Given the description of an element on the screen output the (x, y) to click on. 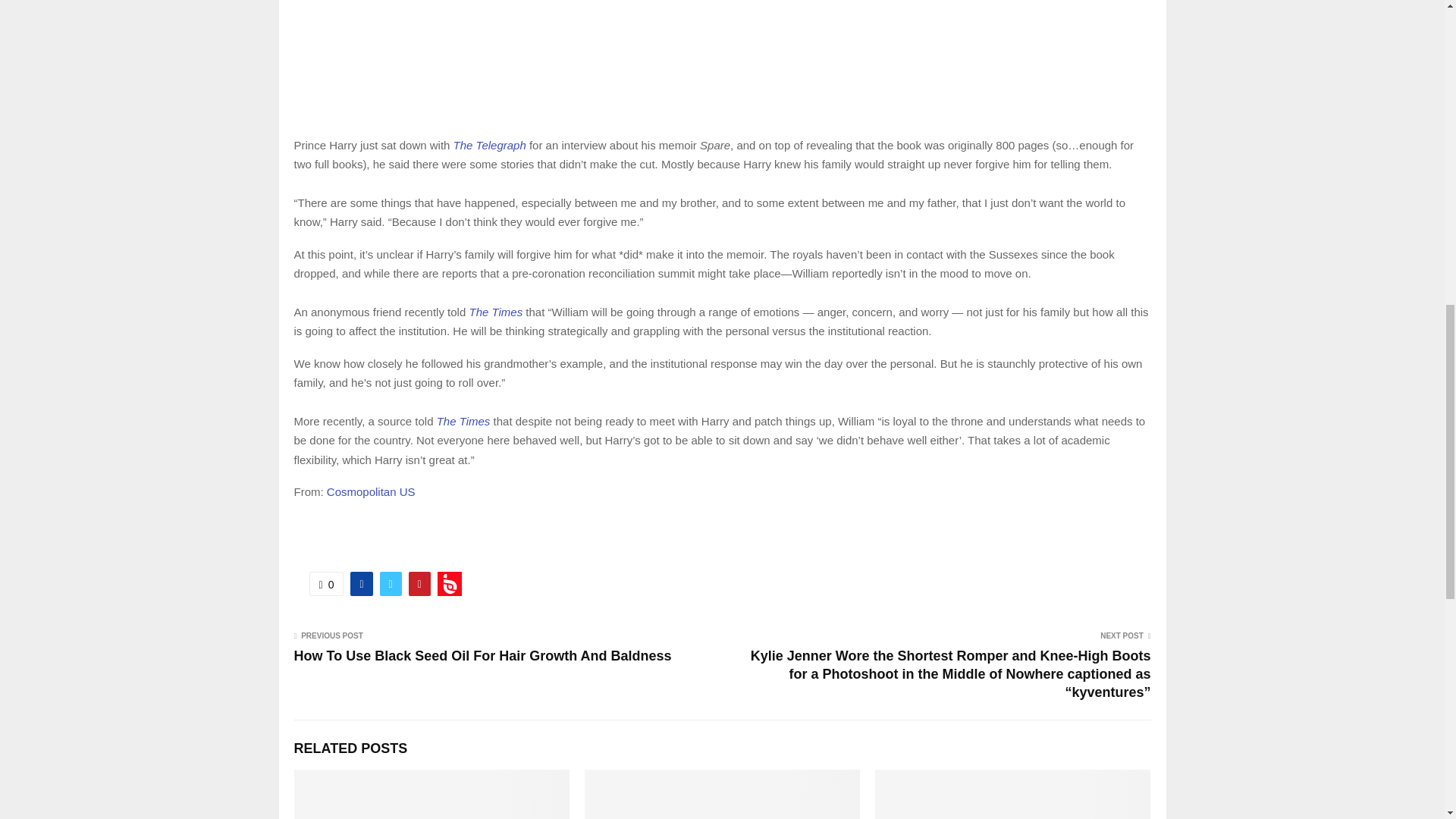
The Times (463, 420)
How To Use Black Seed Oil For Hair Growth And Baldness (482, 655)
The Times (495, 311)
Advertisement (722, 60)
Like (325, 583)
Cosmopolitan US (370, 491)
The Telegraph (488, 144)
0 (325, 583)
